Given the description of an element on the screen output the (x, y) to click on. 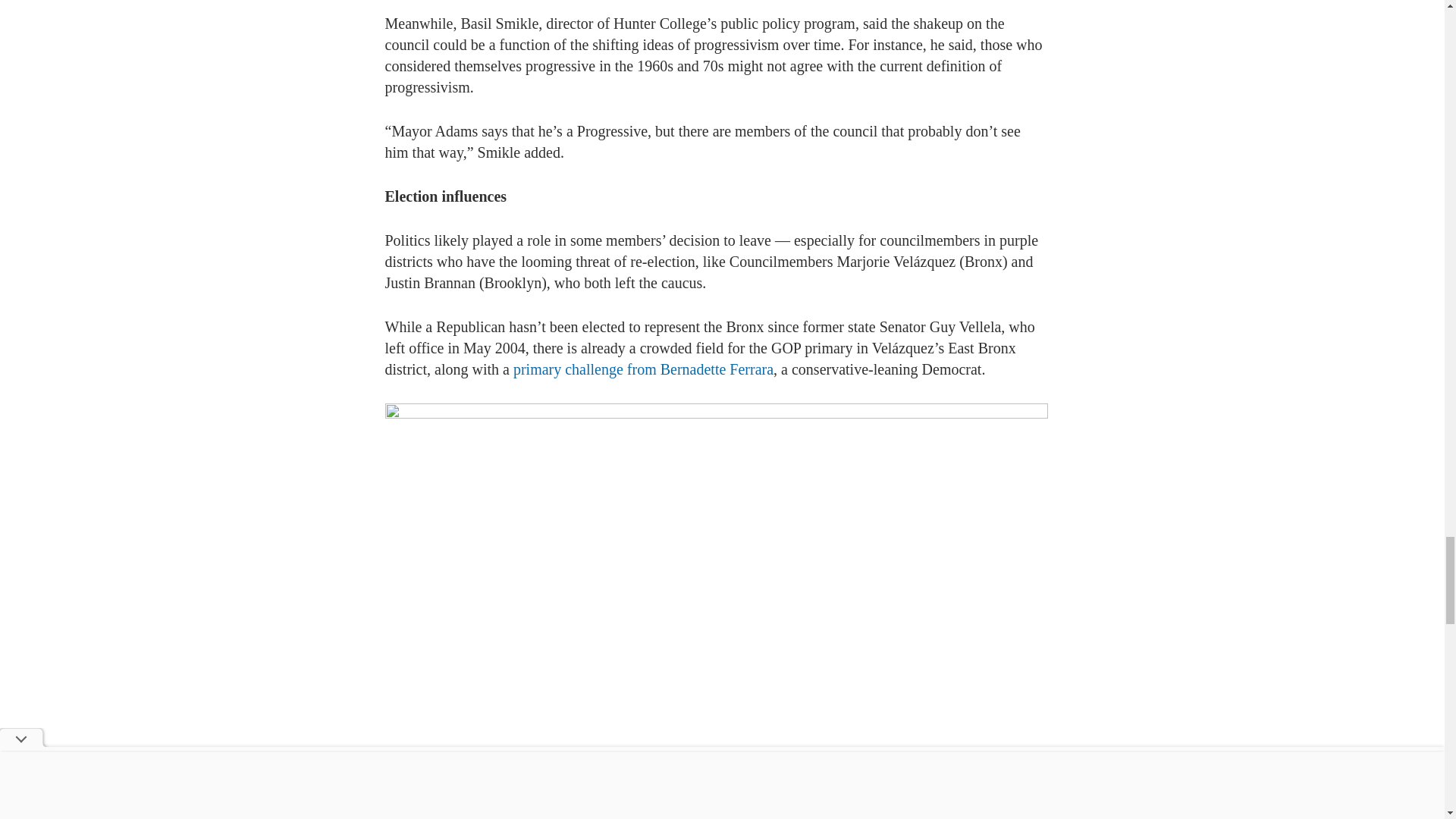
primary challenge from Bernadette Ferrara (643, 369)
